Given the description of an element on the screen output the (x, y) to click on. 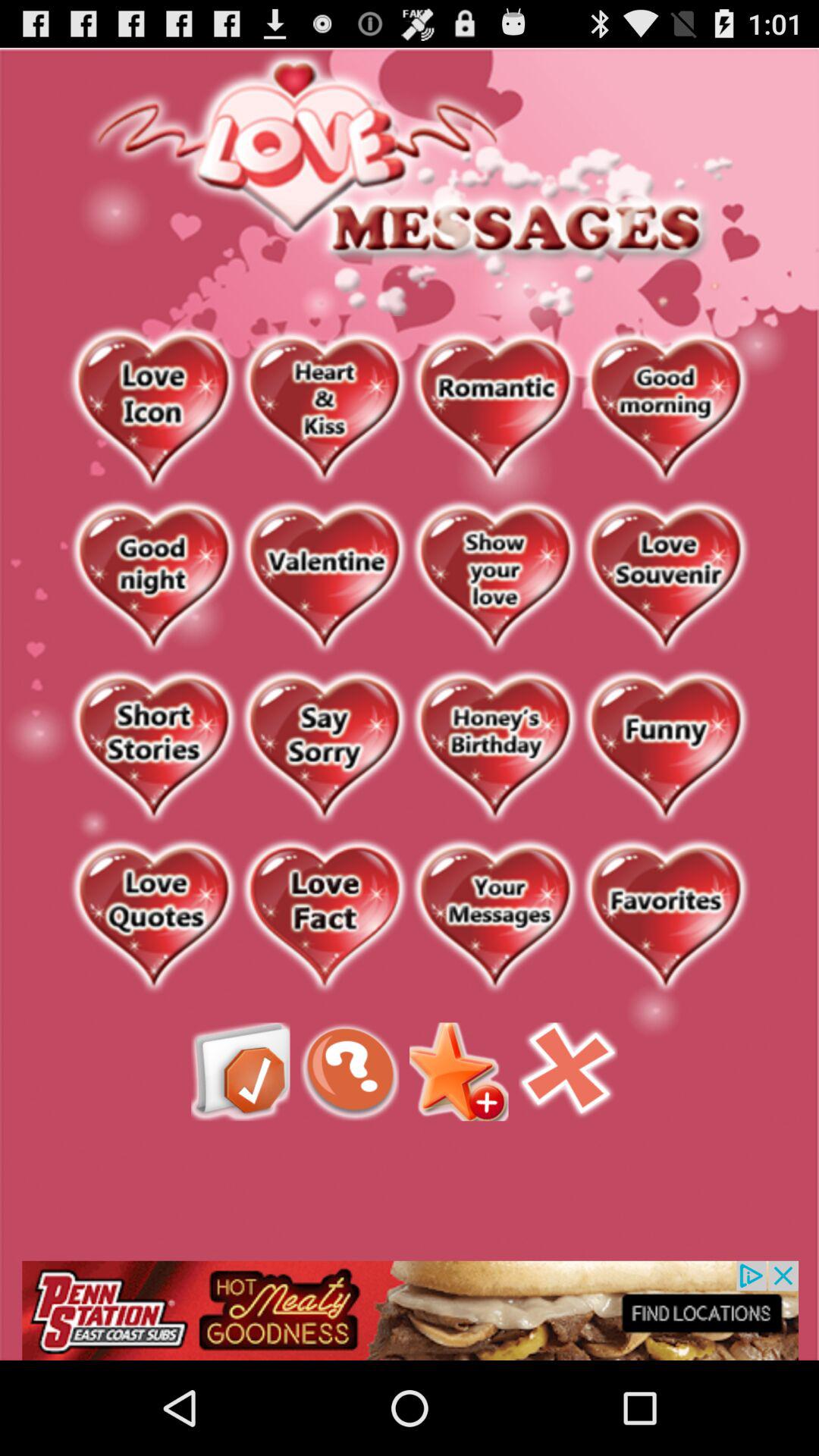
helf feeback (349, 1071)
